Given the description of an element on the screen output the (x, y) to click on. 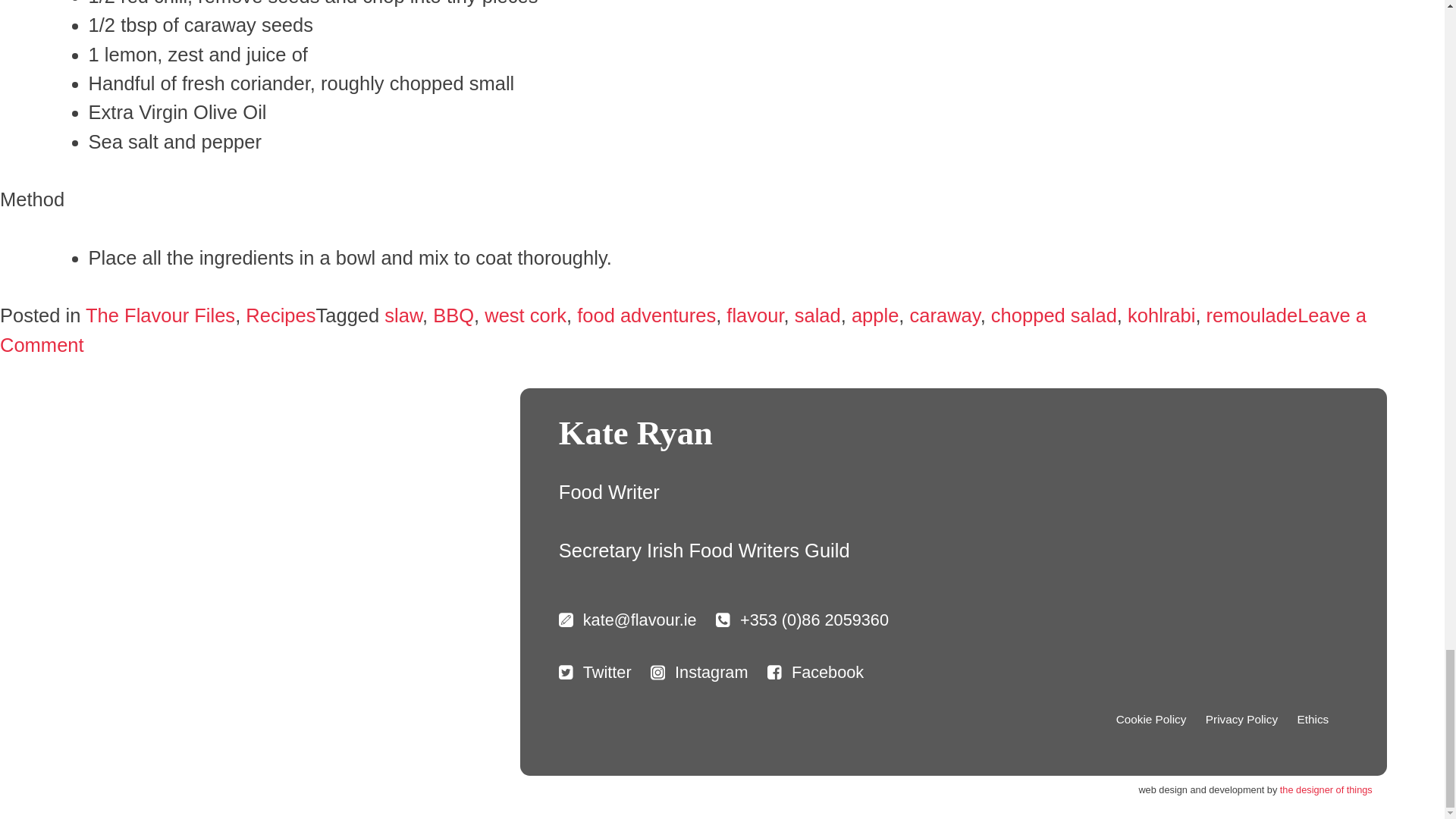
flavour (754, 314)
caraway (944, 314)
Recipes (280, 314)
salad (817, 314)
Cookie Policy (1151, 720)
slaw (403, 314)
Twitter (595, 672)
Instagram (699, 672)
west cork (525, 314)
BBQ (453, 314)
